Given the description of an element on the screen output the (x, y) to click on. 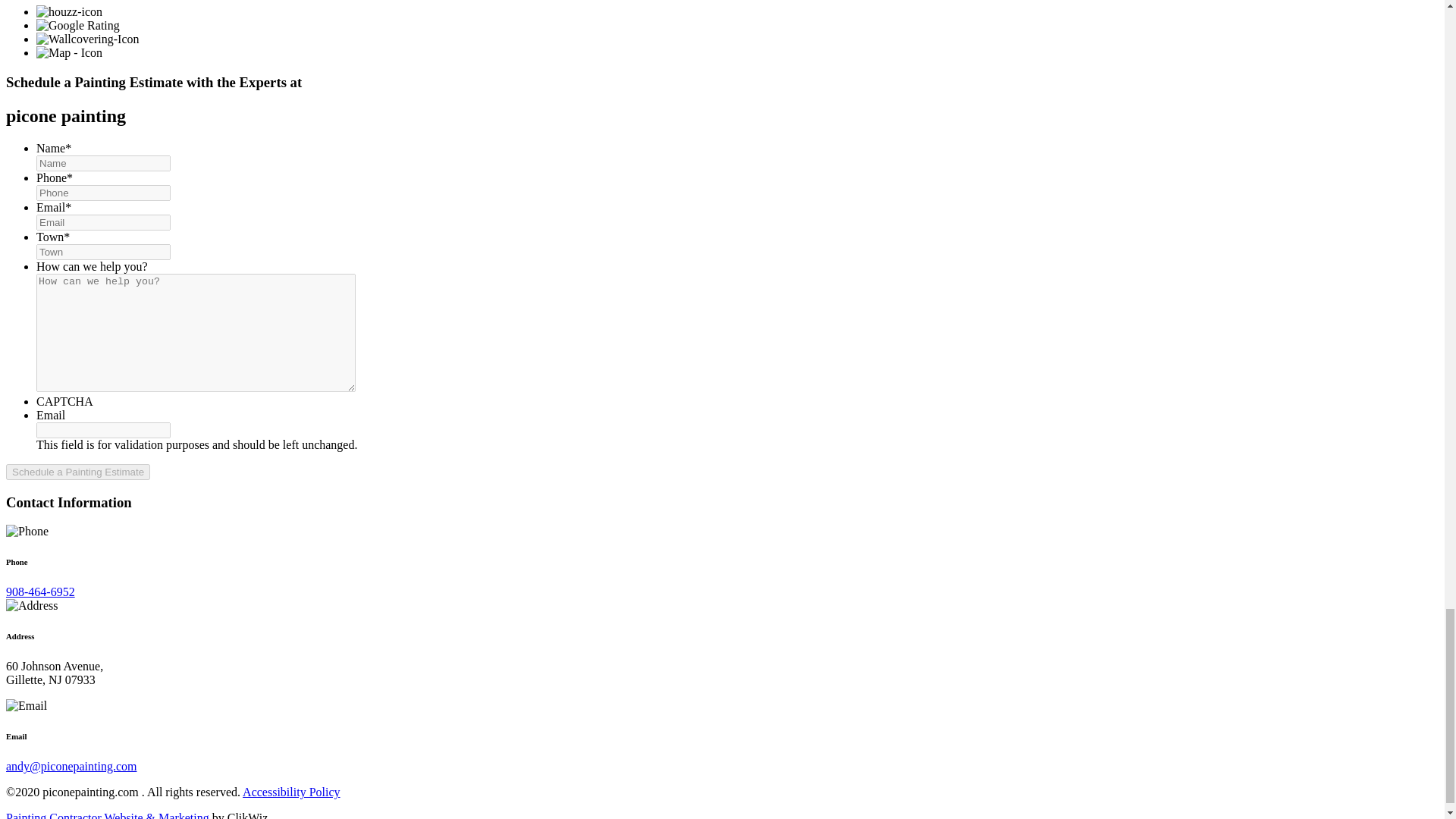
Schedule a Painting Estimate (77, 471)
908-464-6952 (40, 591)
Schedule a Painting Estimate (77, 471)
